Given the description of an element on the screen output the (x, y) to click on. 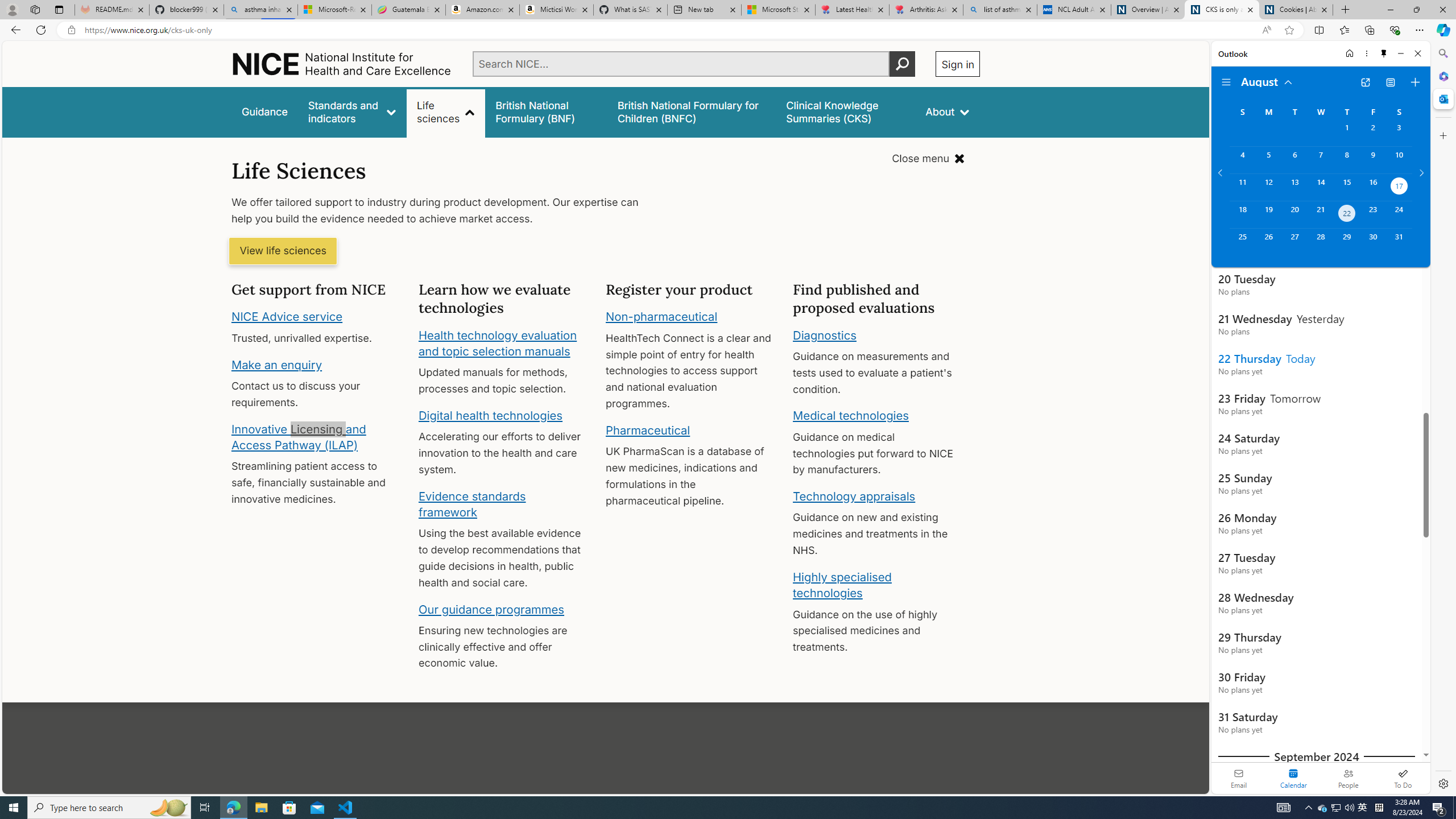
Tuesday, August 20, 2024.  (1294, 214)
Saturday, August 3, 2024.  (1399, 132)
Friday, August 23, 2024.  (1372, 214)
list of asthma inhalers uk - Search (1000, 9)
Guidance (264, 111)
Selected calendar module. Date today is 22 (1293, 777)
